Given the description of an element on the screen output the (x, y) to click on. 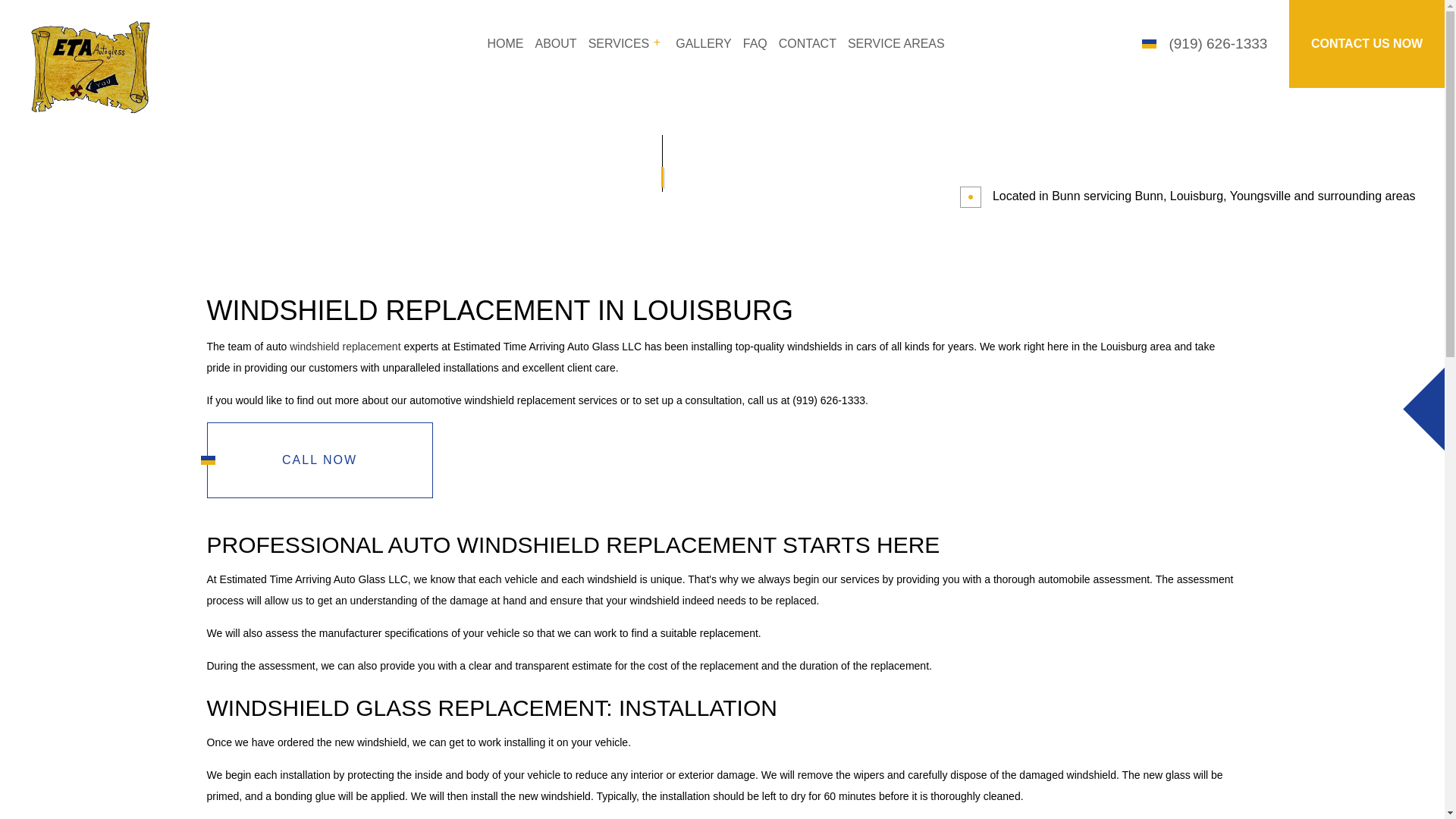
CONTACT (807, 43)
HOME (505, 43)
SERVICES (625, 43)
WINDSHIELD REPLACEMENT (711, 151)
AUTO GLASS REPLACEMENT (506, 125)
windshield replacement (344, 346)
FAQ (754, 43)
CALL NOW (319, 459)
WINDSHIELD REPAIR (506, 151)
AUTO GLASS REPAIR (711, 125)
ABOUT (555, 43)
Estimated Time Arriving Auto Glass LLC (90, 63)
GALLERY (703, 43)
SERVICE AREAS (895, 43)
